Given the description of an element on the screen output the (x, y) to click on. 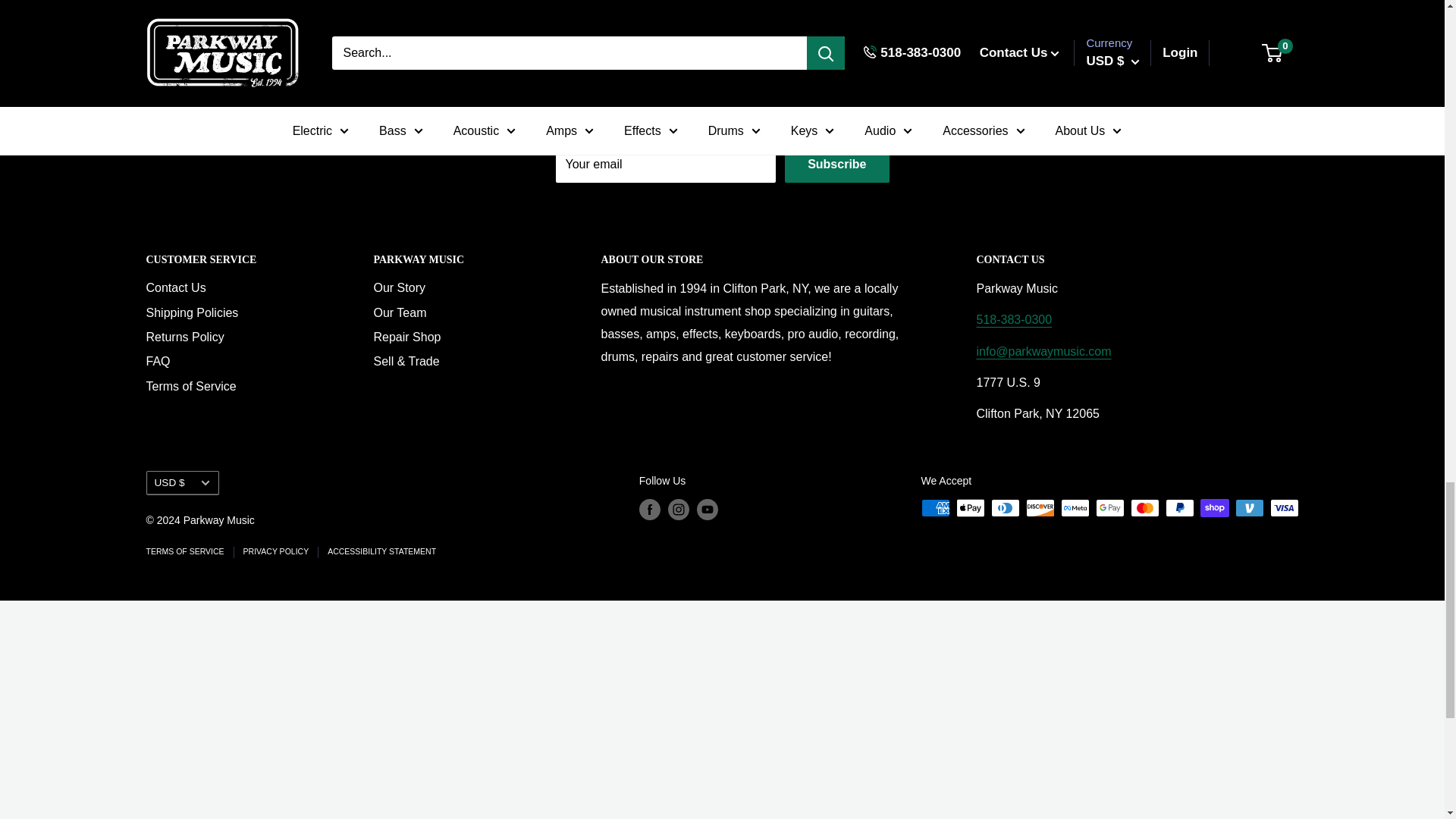
tel:518-383-0300 (1014, 318)
Parkway Music Email Address (1044, 350)
